Given the description of an element on the screen output the (x, y) to click on. 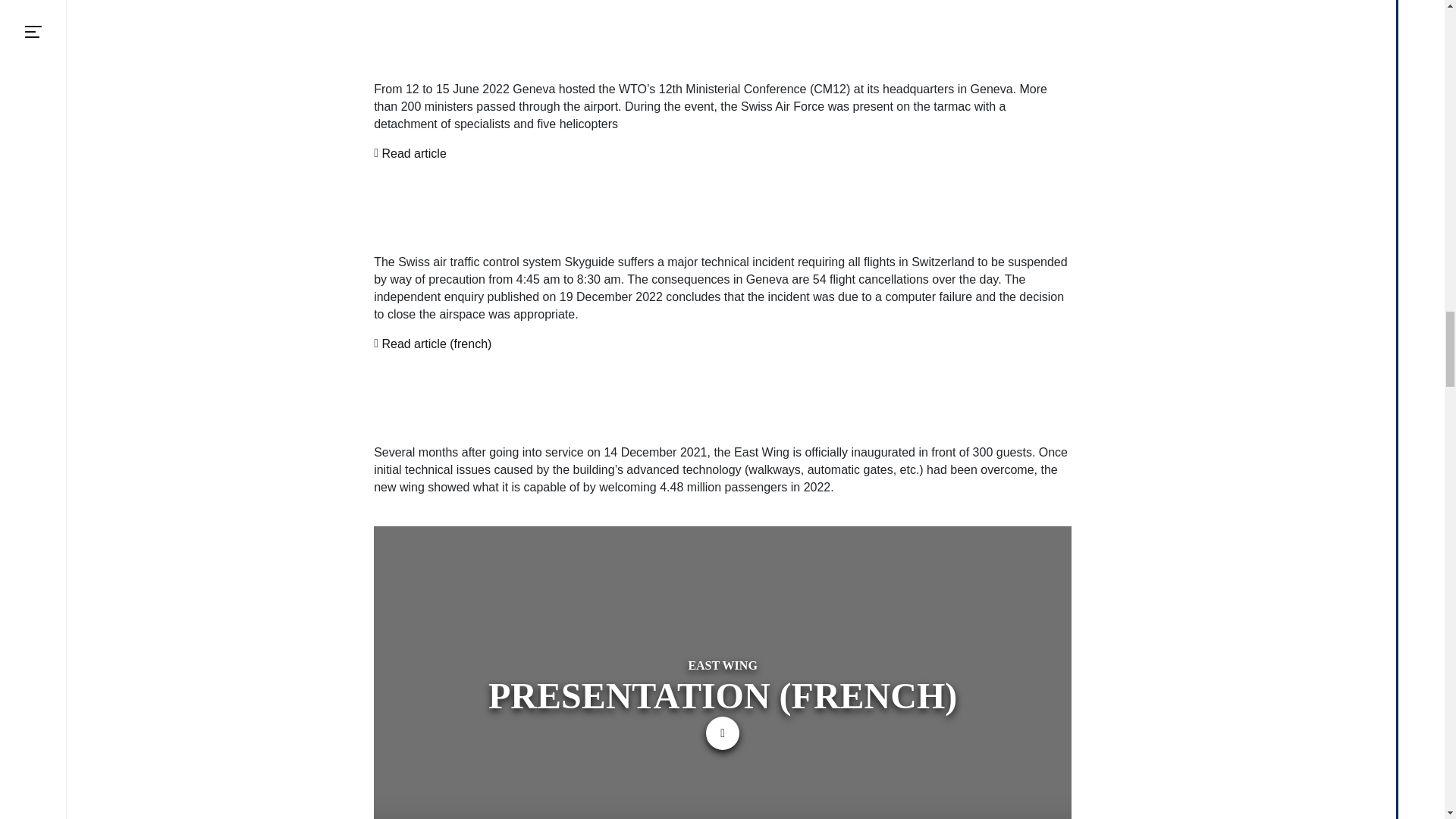
Read article (413, 153)
